Given the description of an element on the screen output the (x, y) to click on. 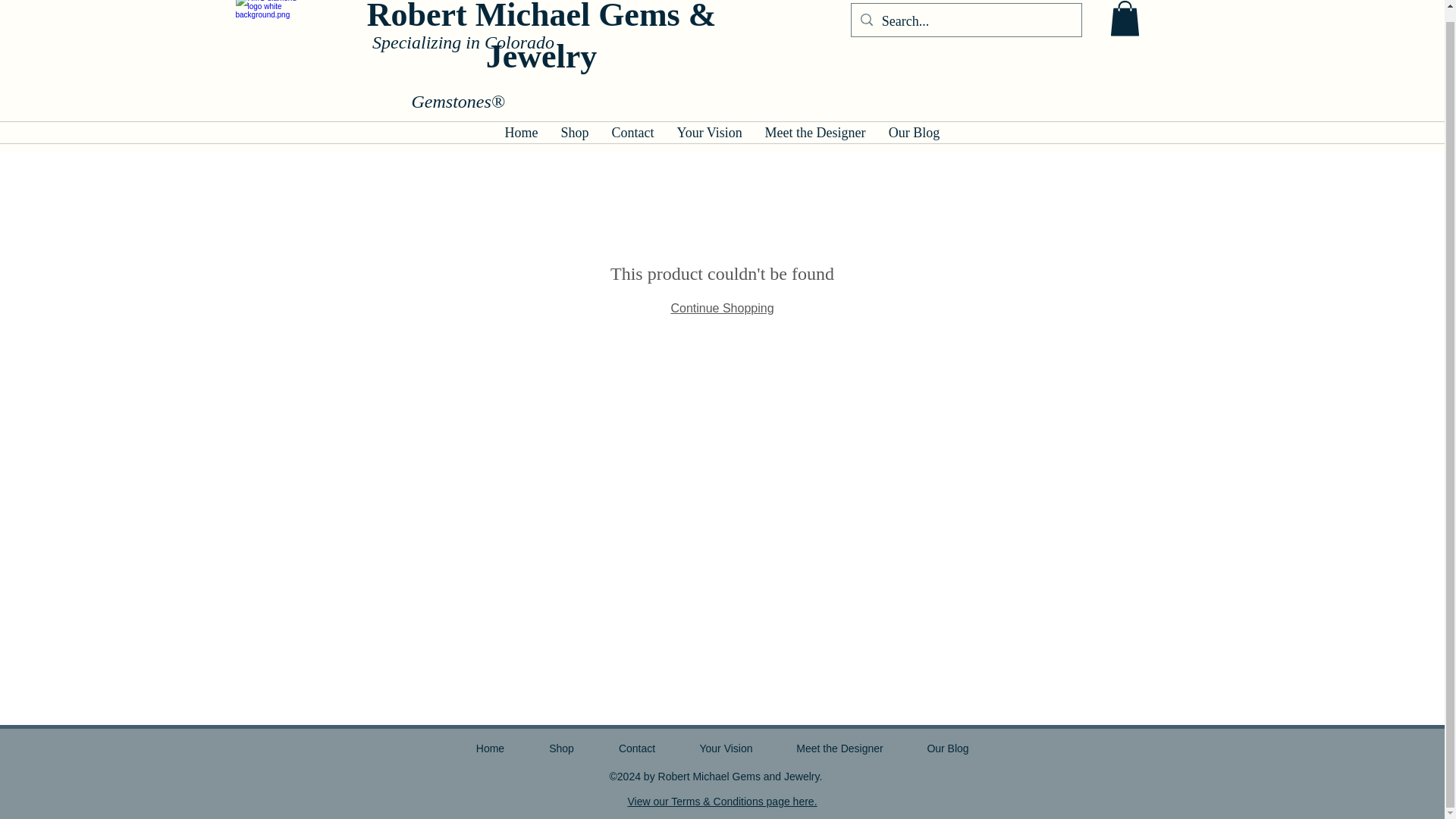
Contact (632, 132)
Home (520, 132)
Your Vision (726, 748)
Our Blog (913, 132)
Meet the Designer (839, 748)
Continue Shopping (721, 308)
Shop (573, 132)
Meet the Designer (815, 132)
Home (488, 748)
Our Blog (948, 748)
